Given the description of an element on the screen output the (x, y) to click on. 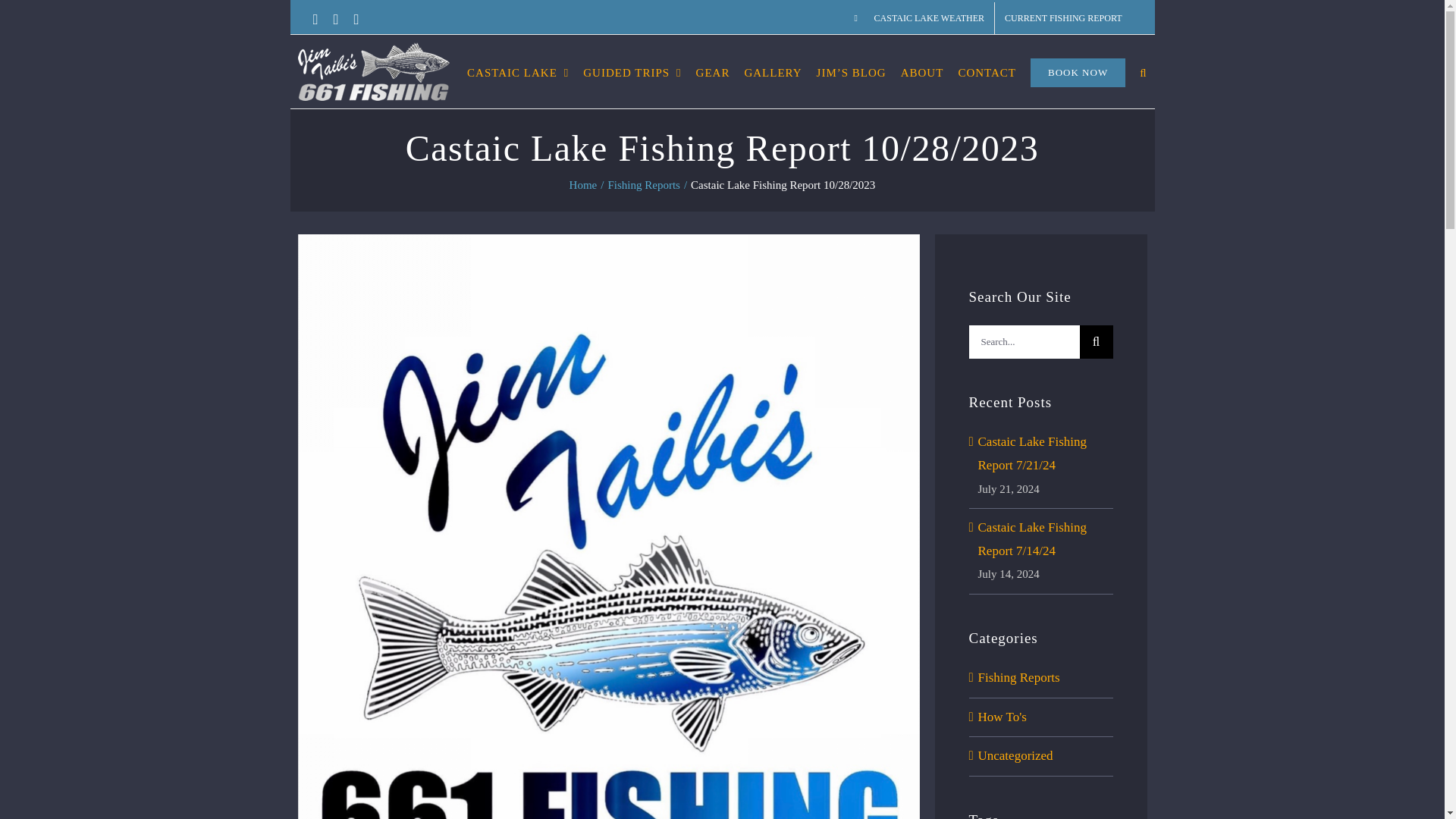
CURRENT FISHING REPORT (1062, 18)
CASTAIC LAKE (518, 71)
GUIDED TRIPS (632, 71)
CASTAIC LAKE WEATHER (919, 18)
BOOK NOW (1077, 71)
